Given the description of an element on the screen output the (x, y) to click on. 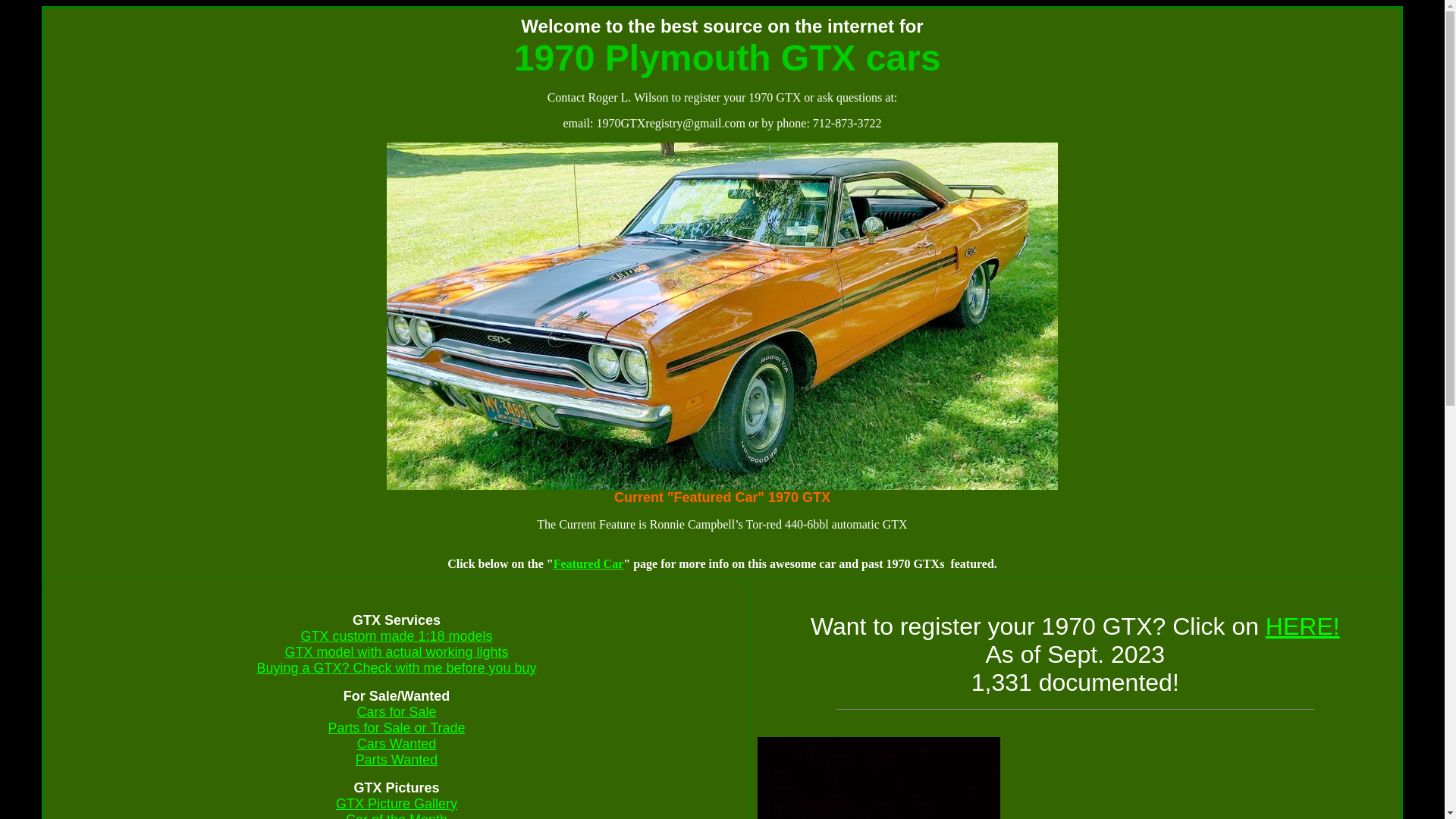
GTX model with actual working lights Element type: text (396, 651)
GTX custom made 1:18 models Element type: text (396, 635)
Cars for Sale Element type: text (396, 711)
Featured Car Element type: text (588, 563)
Parts for Sale or Trade Element type: text (395, 727)
HERE! Element type: text (1302, 626)
GTX Picture Gallery Element type: text (396, 803)
Cars Wanted Element type: text (396, 743)
Parts Wanted Element type: text (396, 759)
Buying a GTX? Check with me before you buy Element type: text (396, 667)
